Given the description of an element on the screen output the (x, y) to click on. 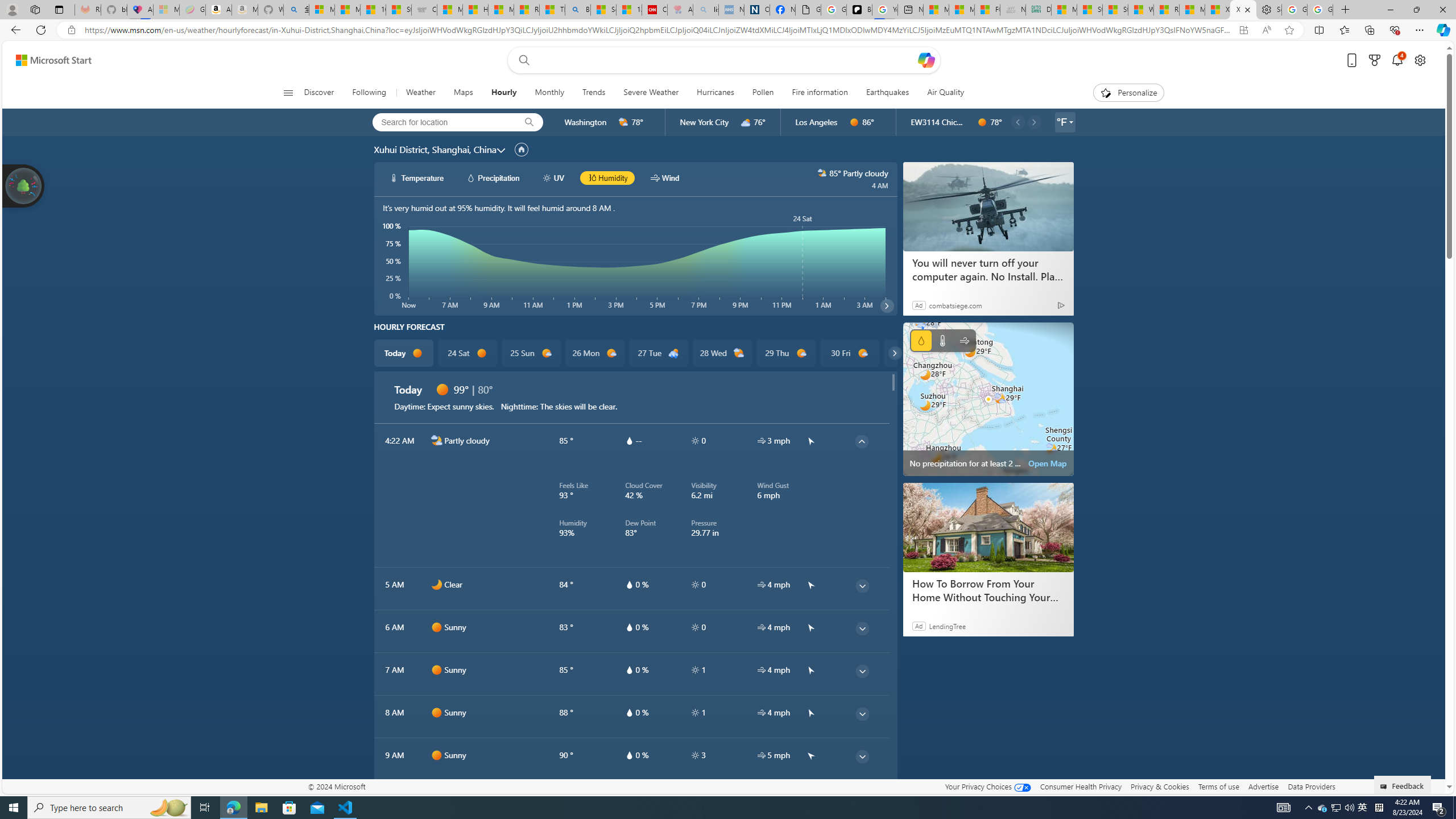
Monthly (549, 92)
Earthquakes (887, 92)
hourlyChart/temperatureWhite (394, 177)
30 Fri d1000 (849, 352)
26 Mon d1000 (594, 352)
LendingTree (946, 625)
Earthquakes (888, 92)
